Given the description of an element on the screen output the (x, y) to click on. 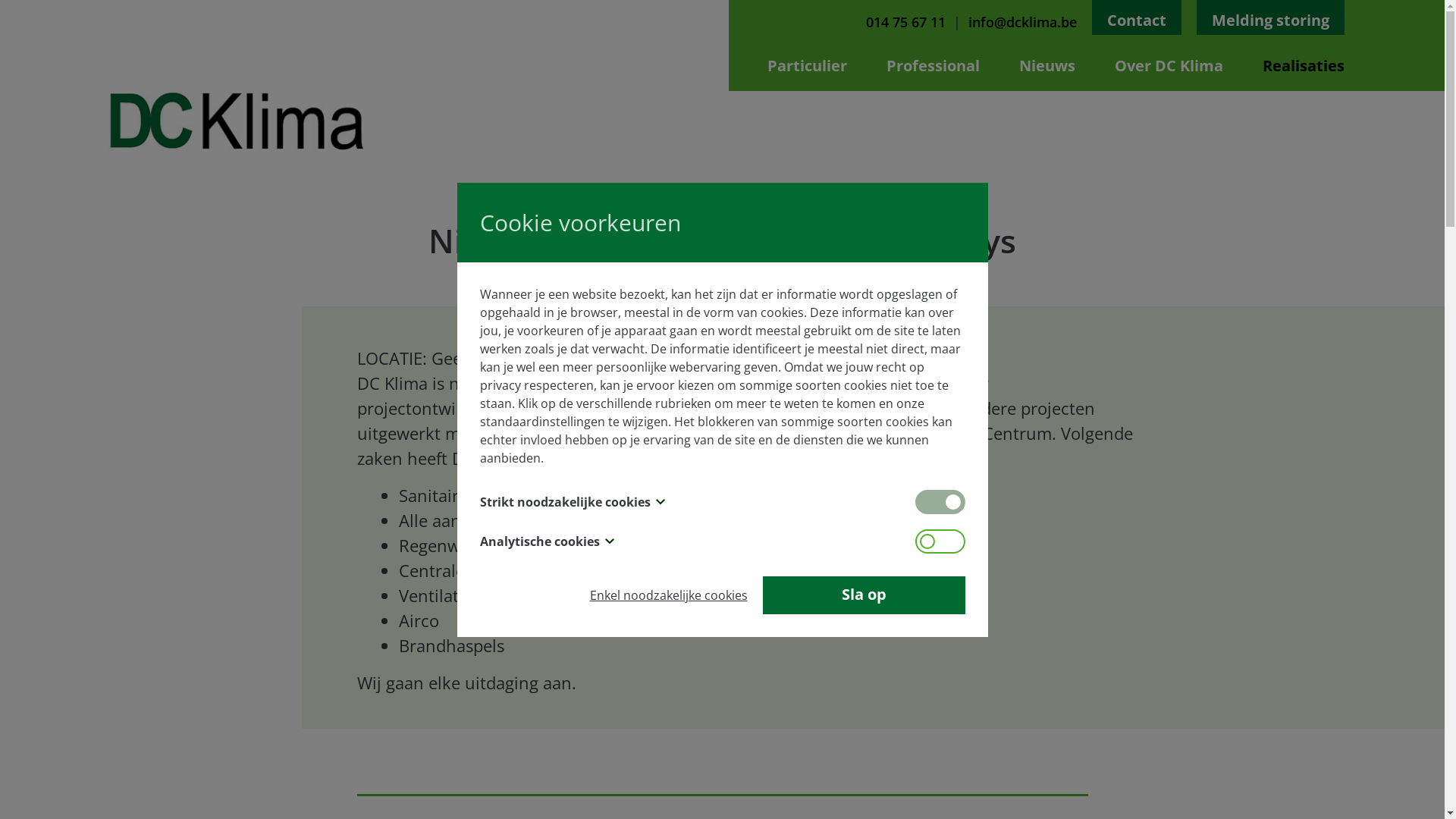
014 75 67 11 Element type: text (905, 23)
Over DC Klima Element type: text (1168, 65)
Contact Element type: text (1136, 17)
Professional Element type: text (932, 65)
Realisaties Element type: text (1302, 65)
info@dcklima.be Element type: text (1021, 23)
Melding storing Element type: text (1270, 17)
Particulier Element type: text (807, 65)
Nieuws Element type: text (1047, 65)
